Given the description of an element on the screen output the (x, y) to click on. 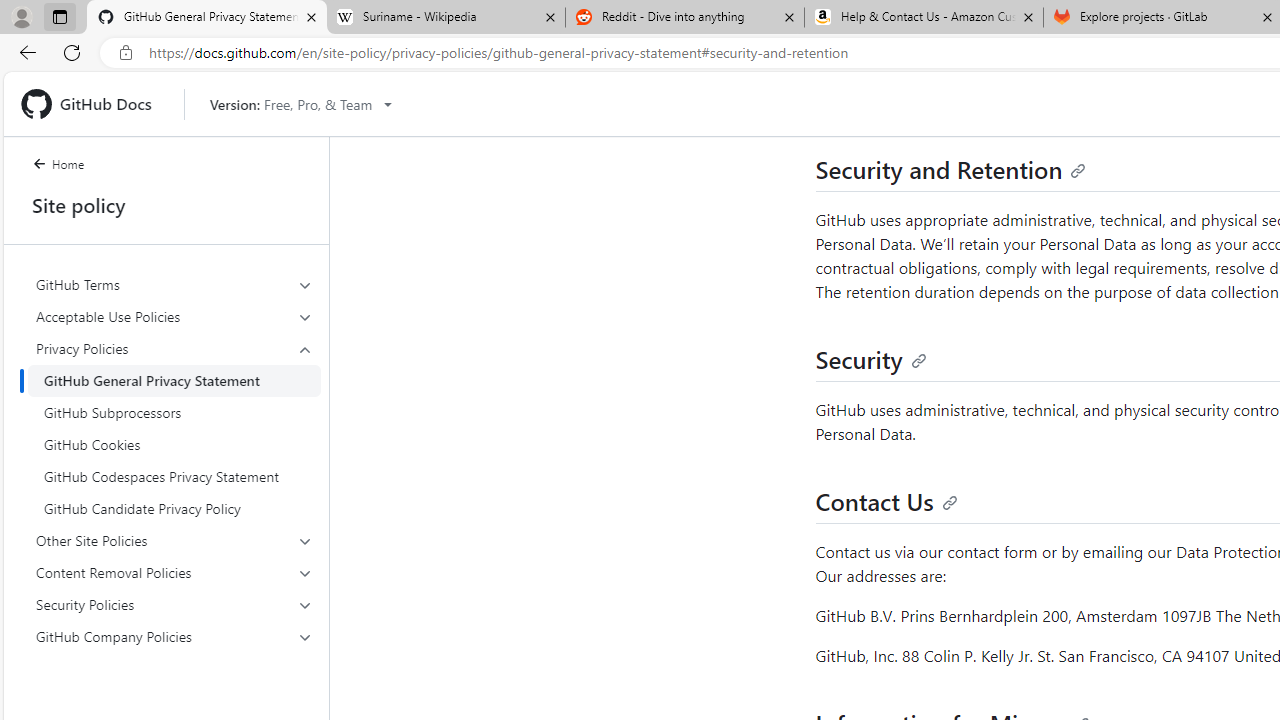
Privacy Policies (174, 428)
Contact Us (886, 501)
GitHub Company Policies (174, 636)
GitHub Terms (174, 284)
GitHub Candidate Privacy Policy (174, 508)
GitHub General Privacy Statement (174, 380)
GitHub Subprocessors (174, 412)
Content Removal Policies (174, 572)
GitHub General Privacy Statement (174, 380)
Security Policies (174, 604)
GitHub Codespaces Privacy Statement (174, 476)
Other Site Policies (174, 540)
